Given the description of an element on the screen output the (x, y) to click on. 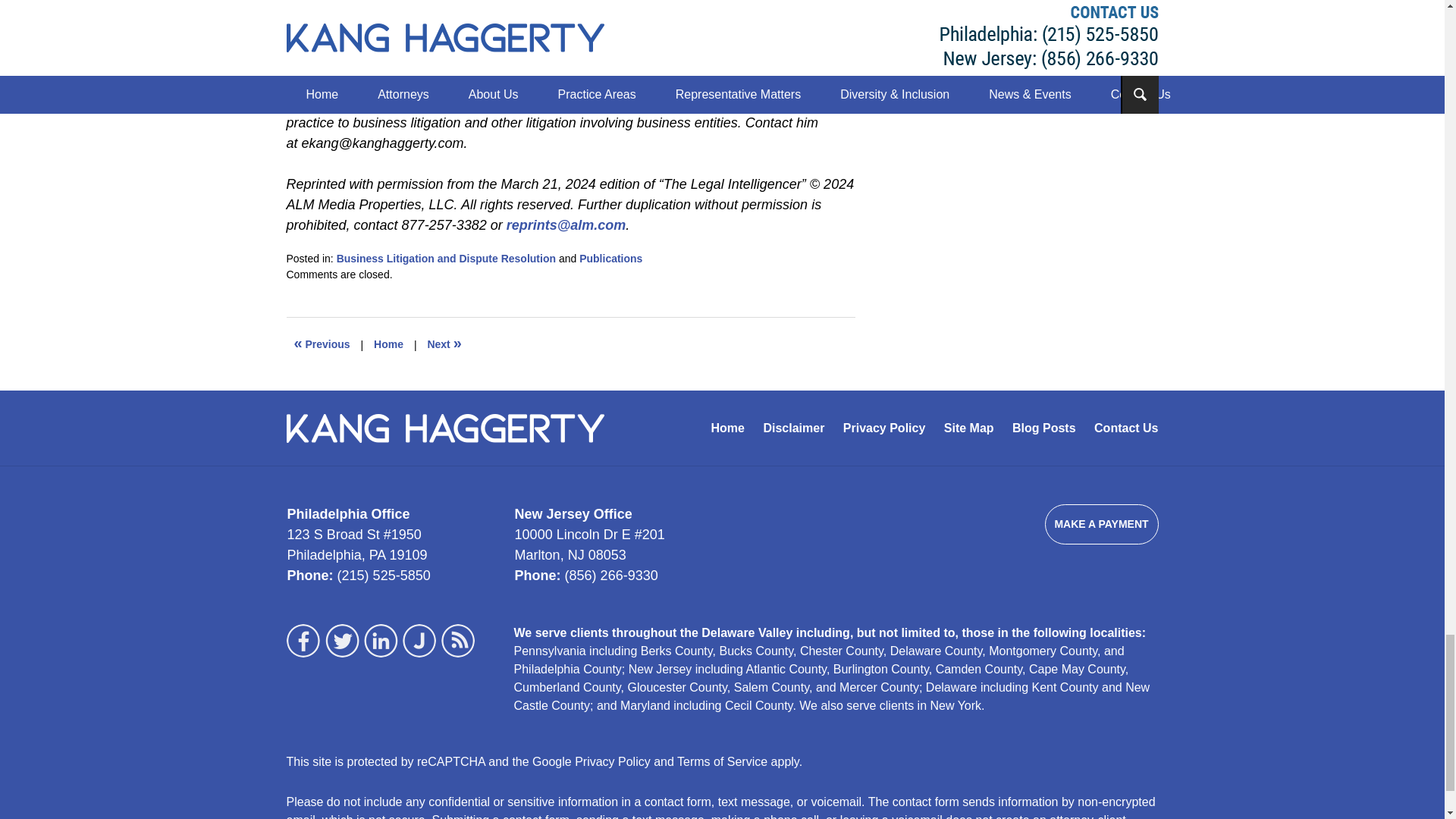
LinkedIn (381, 640)
Facebook (303, 640)
View all posts in Business Litigation and Dispute Resolution (446, 258)
Twitter (341, 640)
Facebook (303, 640)
View all posts in Publications (610, 258)
Twitter (341, 640)
